Given the description of an element on the screen output the (x, y) to click on. 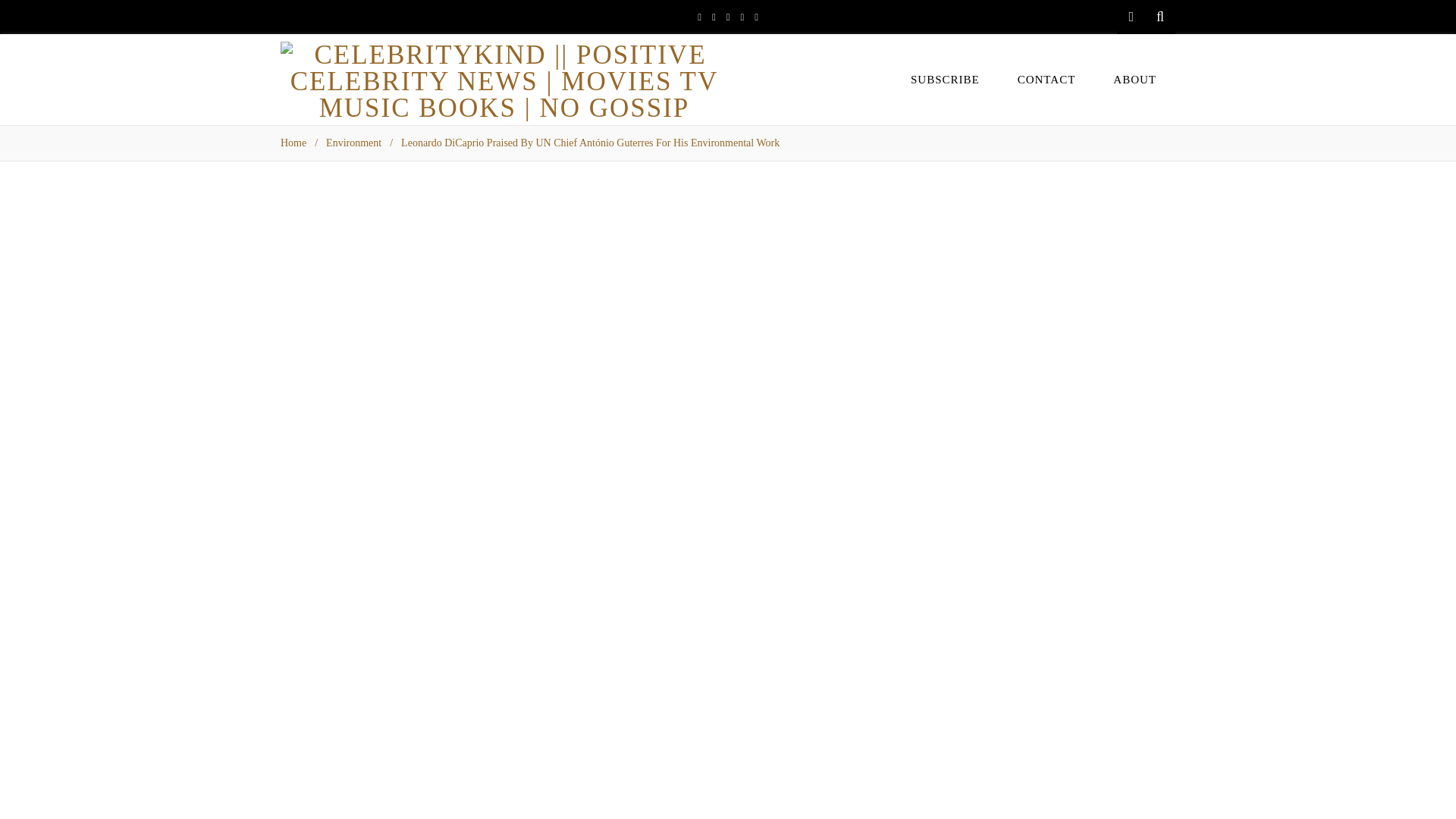
Home (293, 142)
SUBSCRIBE (945, 79)
Environment (353, 142)
Home (293, 142)
CONTACT (1046, 79)
Environment (353, 142)
ABOUT (1134, 79)
